Given the description of an element on the screen output the (x, y) to click on. 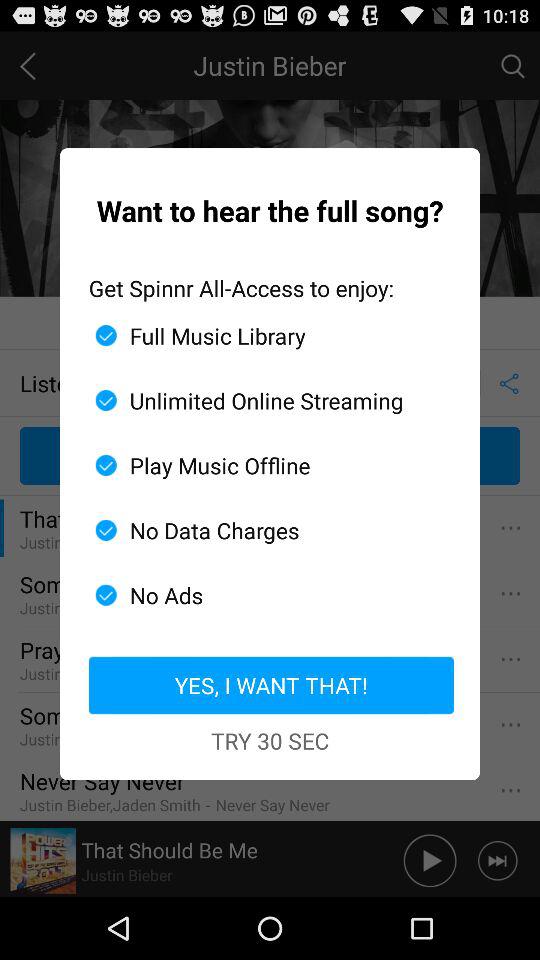
turn off icon above play music offline icon (261, 400)
